Given the description of an element on the screen output the (x, y) to click on. 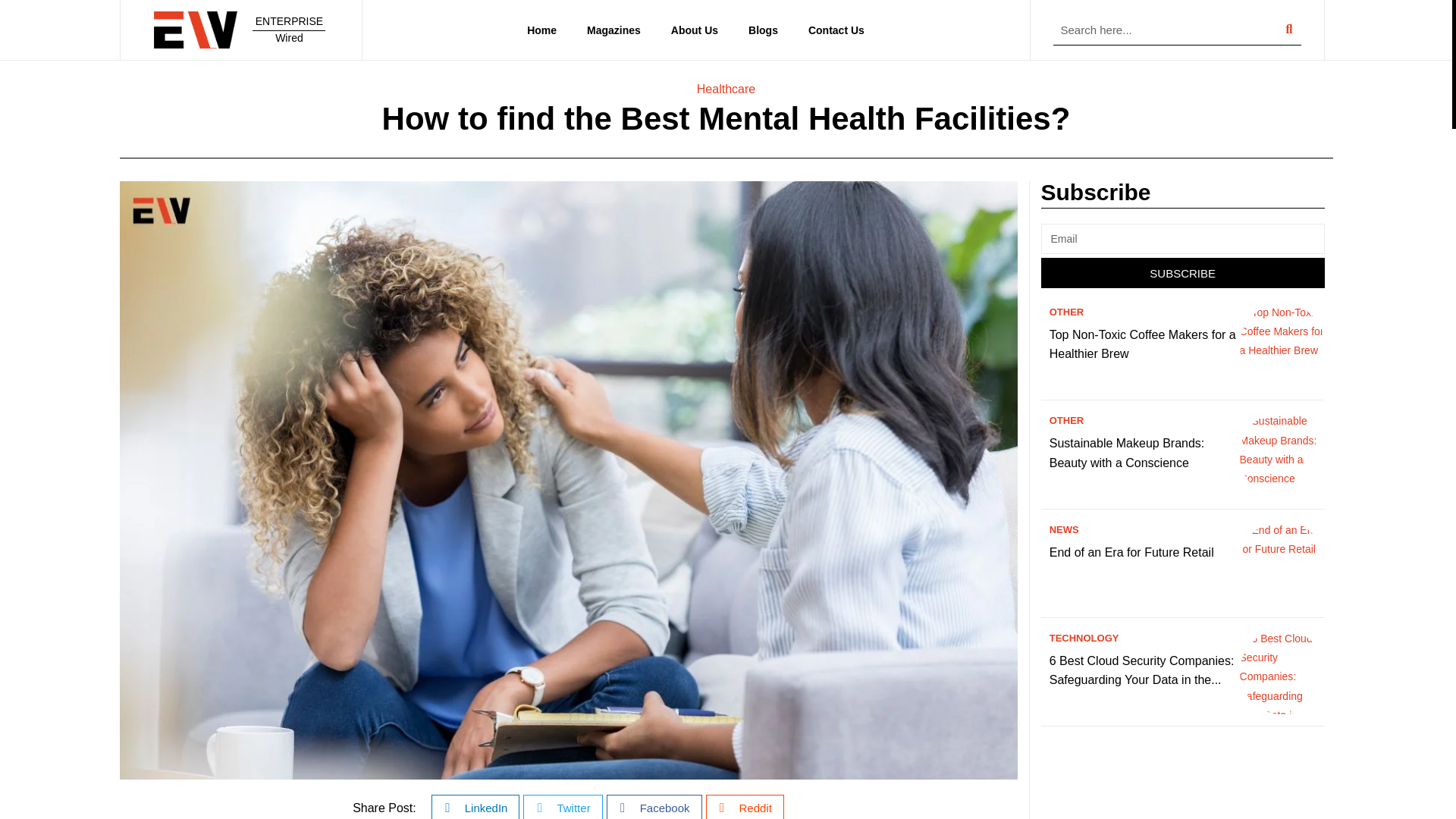
Contact Us (836, 29)
OTHER (1066, 420)
Wired (289, 37)
Healthcare (726, 88)
About Us (694, 29)
ENTERPRISE (289, 21)
Sustainable Makeup Brands: Beauty with a Conscience (1127, 452)
OTHER (1066, 312)
Home (541, 29)
Top Non-Toxic Coffee Makers for a Healthier Brew (1142, 344)
Blogs (762, 29)
SUBSCRIBE (1182, 272)
Magazines (614, 29)
NEWS (1063, 529)
